Given the description of an element on the screen output the (x, y) to click on. 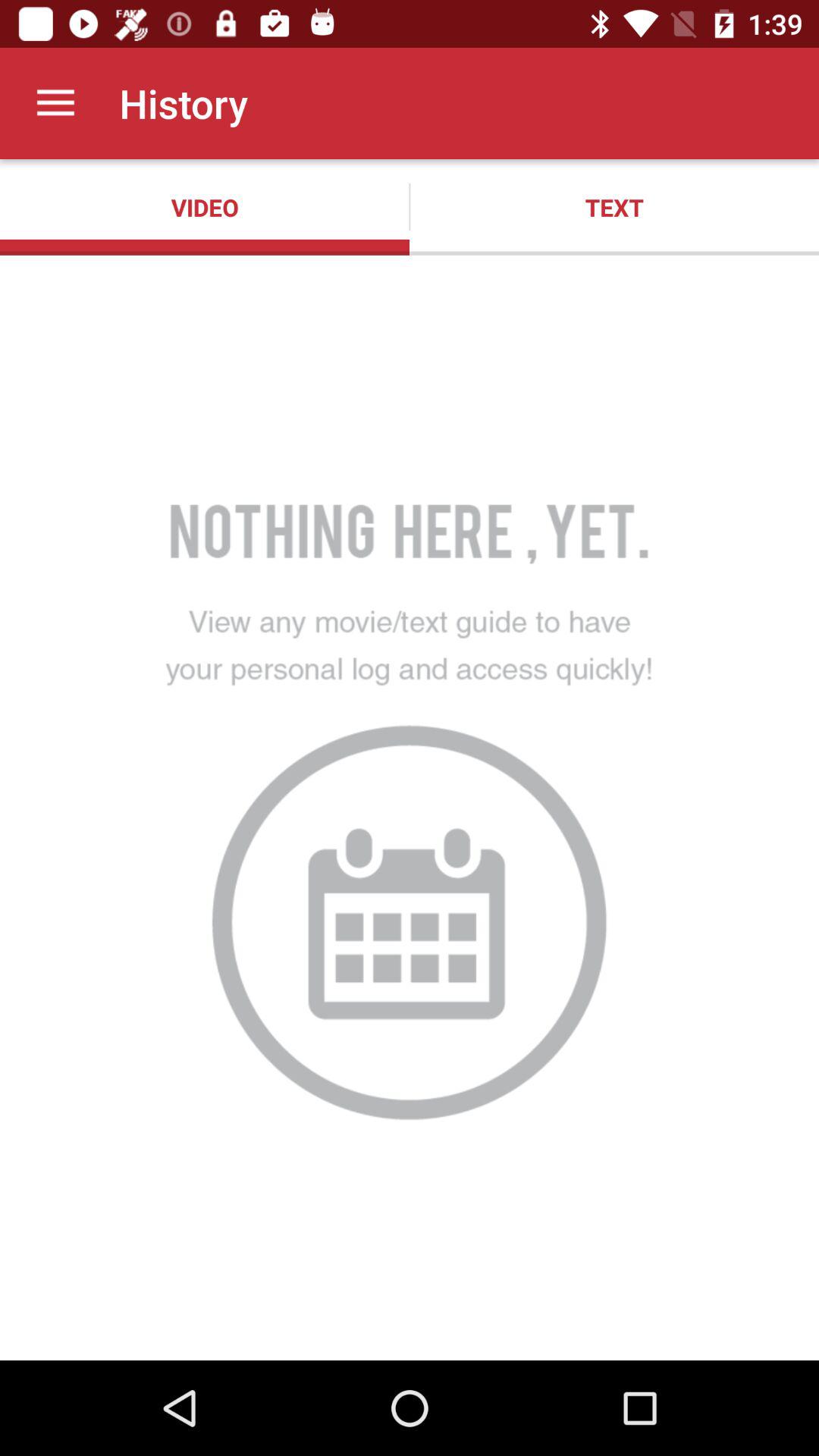
choose the icon at the center (409, 807)
